Given the description of an element on the screen output the (x, y) to click on. 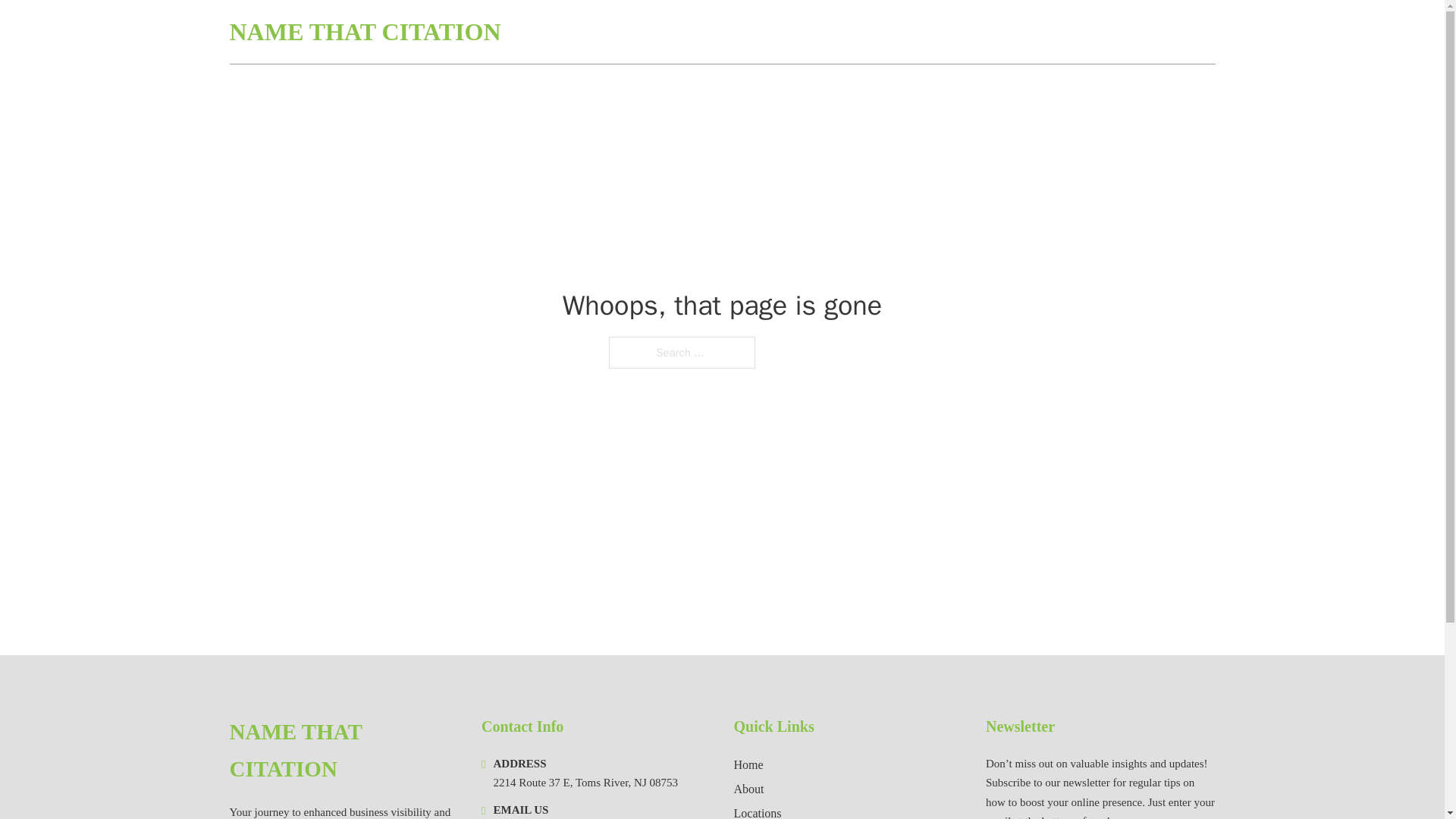
Locations (757, 811)
HOME (1032, 31)
NAME THAT CITATION (343, 750)
About (748, 788)
NAME THAT CITATION (364, 31)
Home (747, 764)
LOCATIONS (1105, 31)
